Given the description of an element on the screen output the (x, y) to click on. 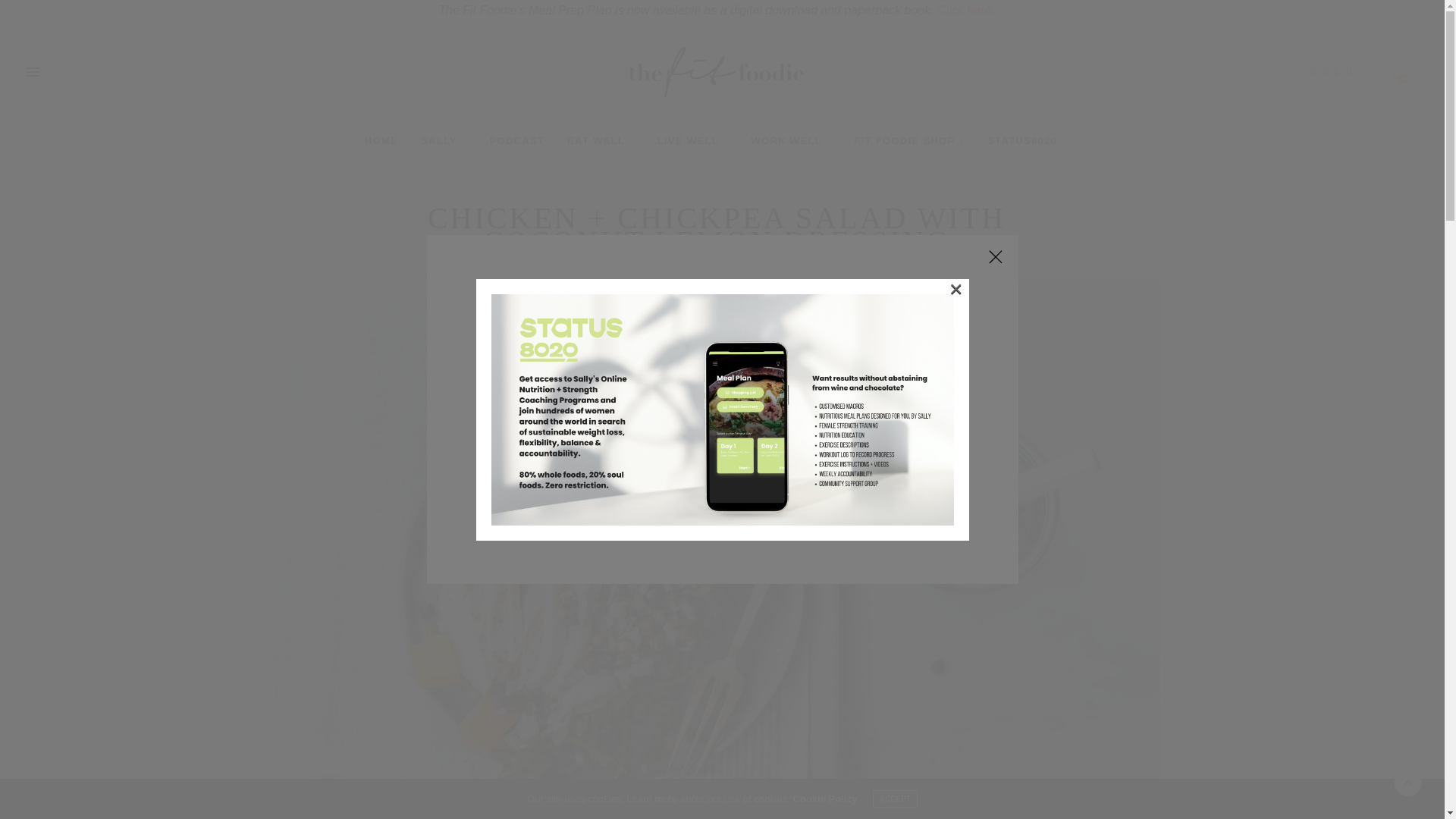
Click here (964, 10)
SUBSCRIBE NOW (722, 415)
